Given the description of an element on the screen output the (x, y) to click on. 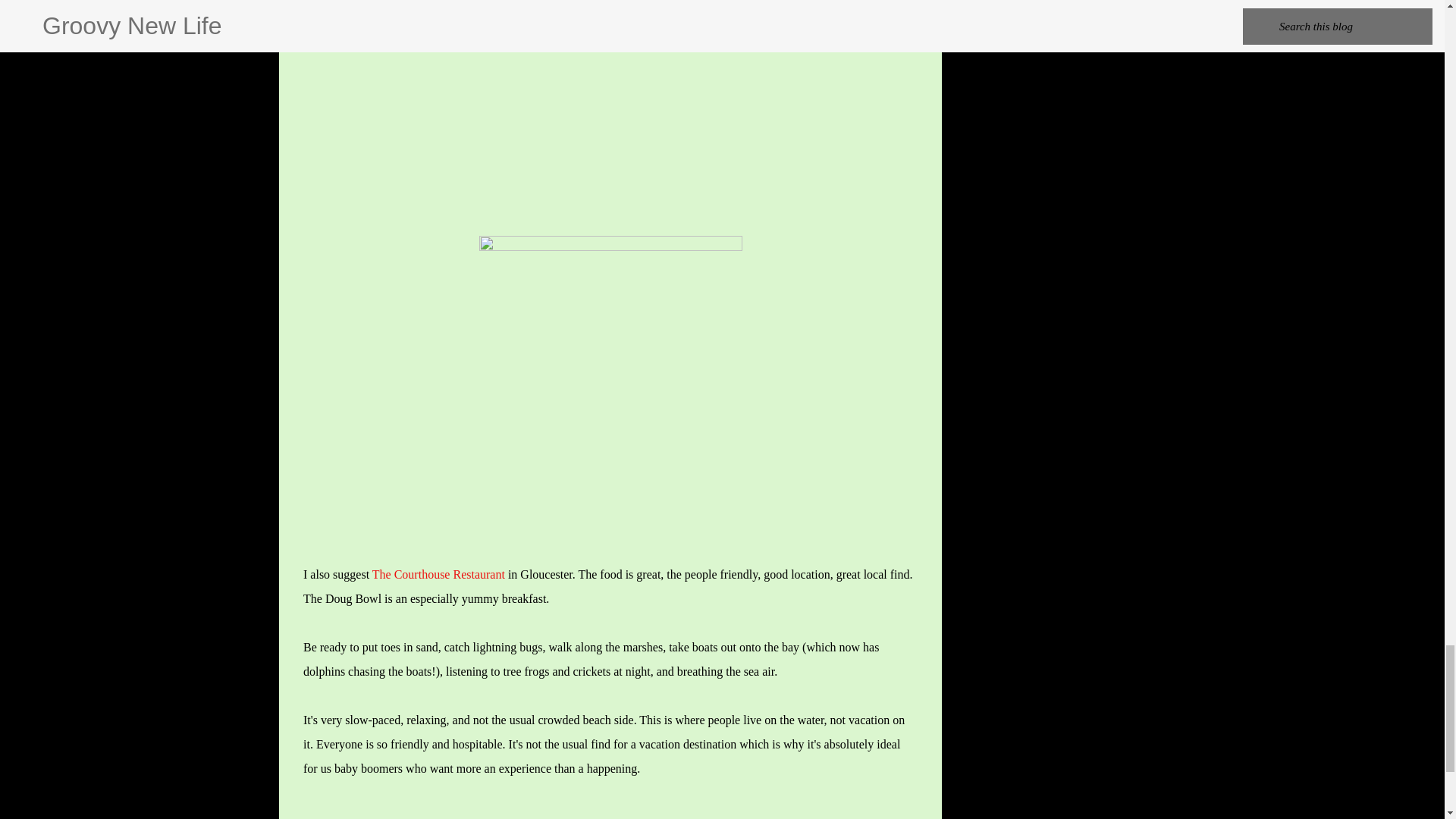
The Courthouse Restaurant (438, 574)
